Given the description of an element on the screen output the (x, y) to click on. 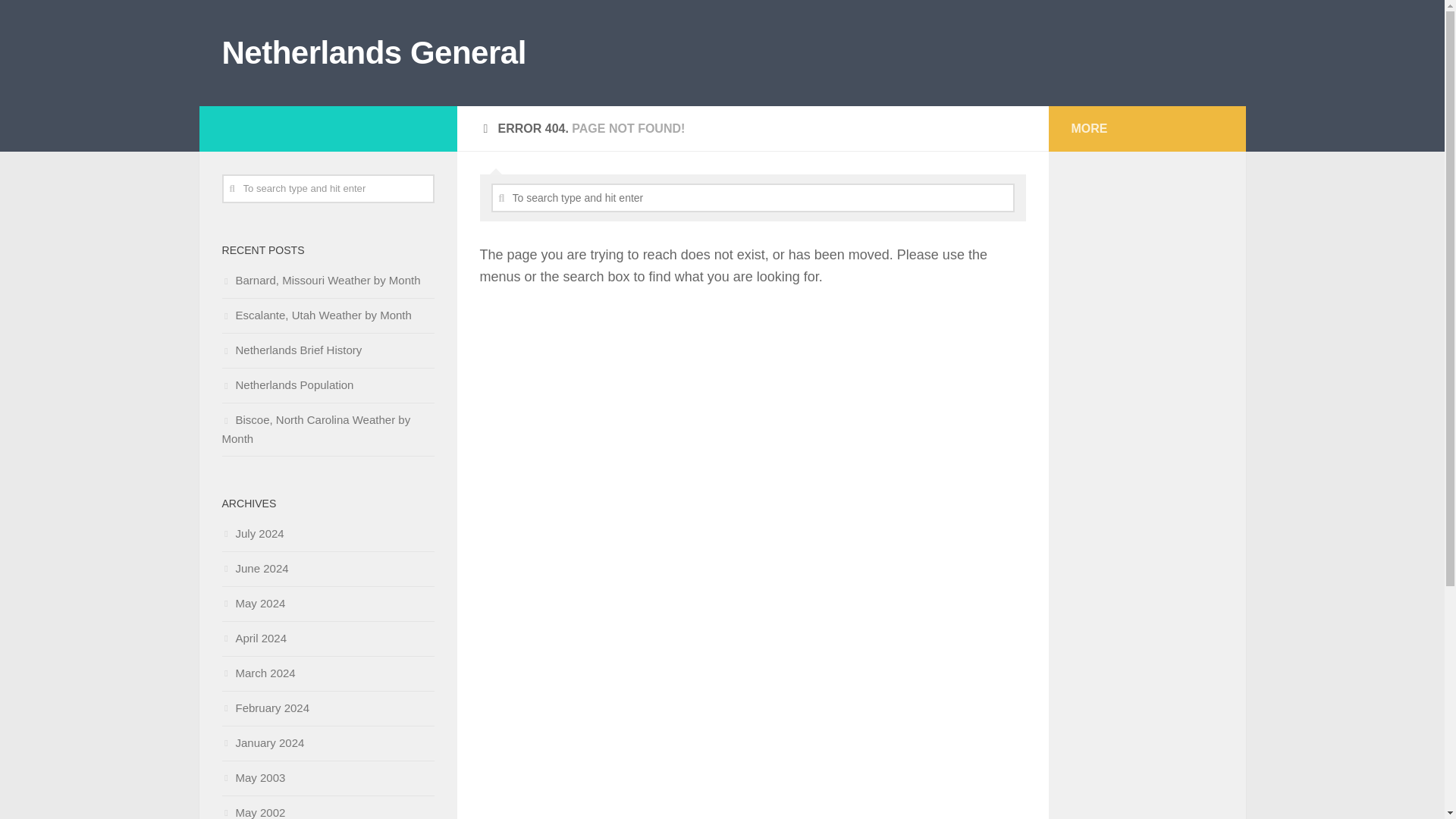
To search type and hit enter (753, 197)
February 2024 (264, 707)
July 2024 (252, 533)
Netherlands General (373, 53)
June 2024 (254, 567)
May 2024 (253, 603)
Biscoe, North Carolina Weather by Month (315, 429)
May 2003 (253, 777)
To search type and hit enter (327, 188)
Barnard, Missouri Weather by Month (320, 279)
Netherlands Population (287, 384)
January 2024 (262, 742)
To search type and hit enter (327, 188)
April 2024 (253, 637)
Netherlands Brief History (291, 349)
